Given the description of an element on the screen output the (x, y) to click on. 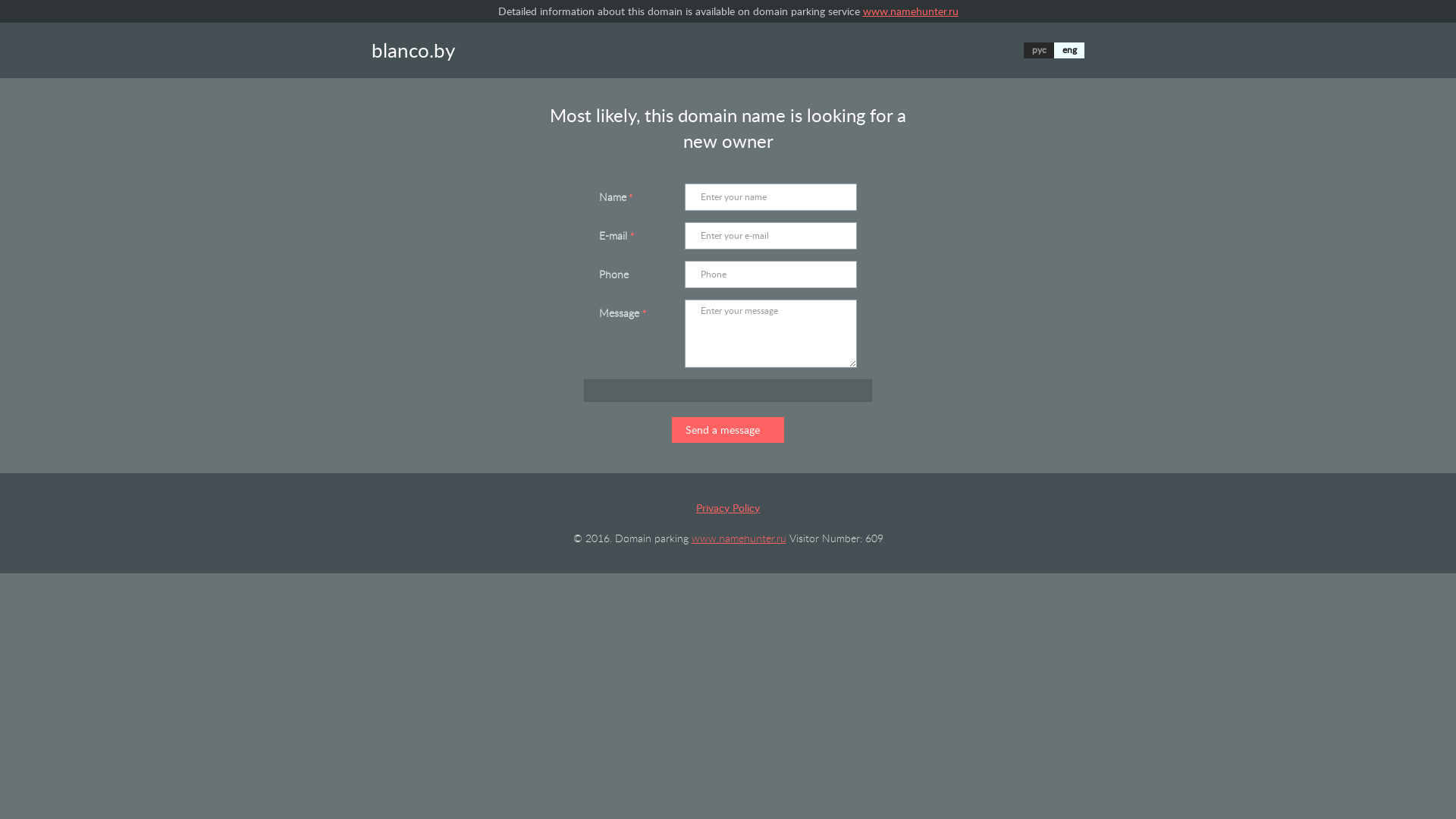
www.namehunter.ru Element type: text (910, 11)
www.namehunter.ru Element type: text (738, 538)
Privacy Policy Element type: text (727, 508)
blanco.by Element type: text (413, 50)
Send a message Element type: text (727, 429)
